Given the description of an element on the screen output the (x, y) to click on. 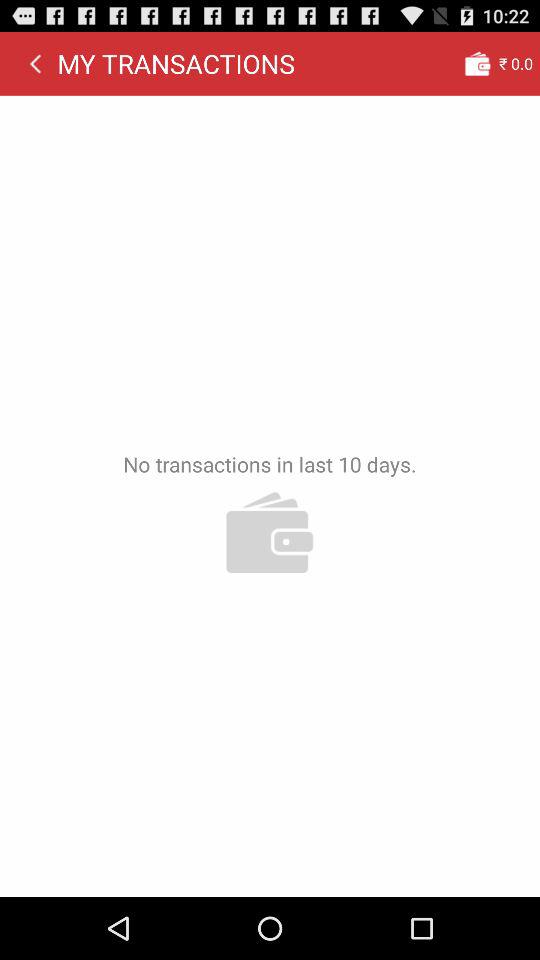
click transaction option (477, 63)
